Given the description of an element on the screen output the (x, y) to click on. 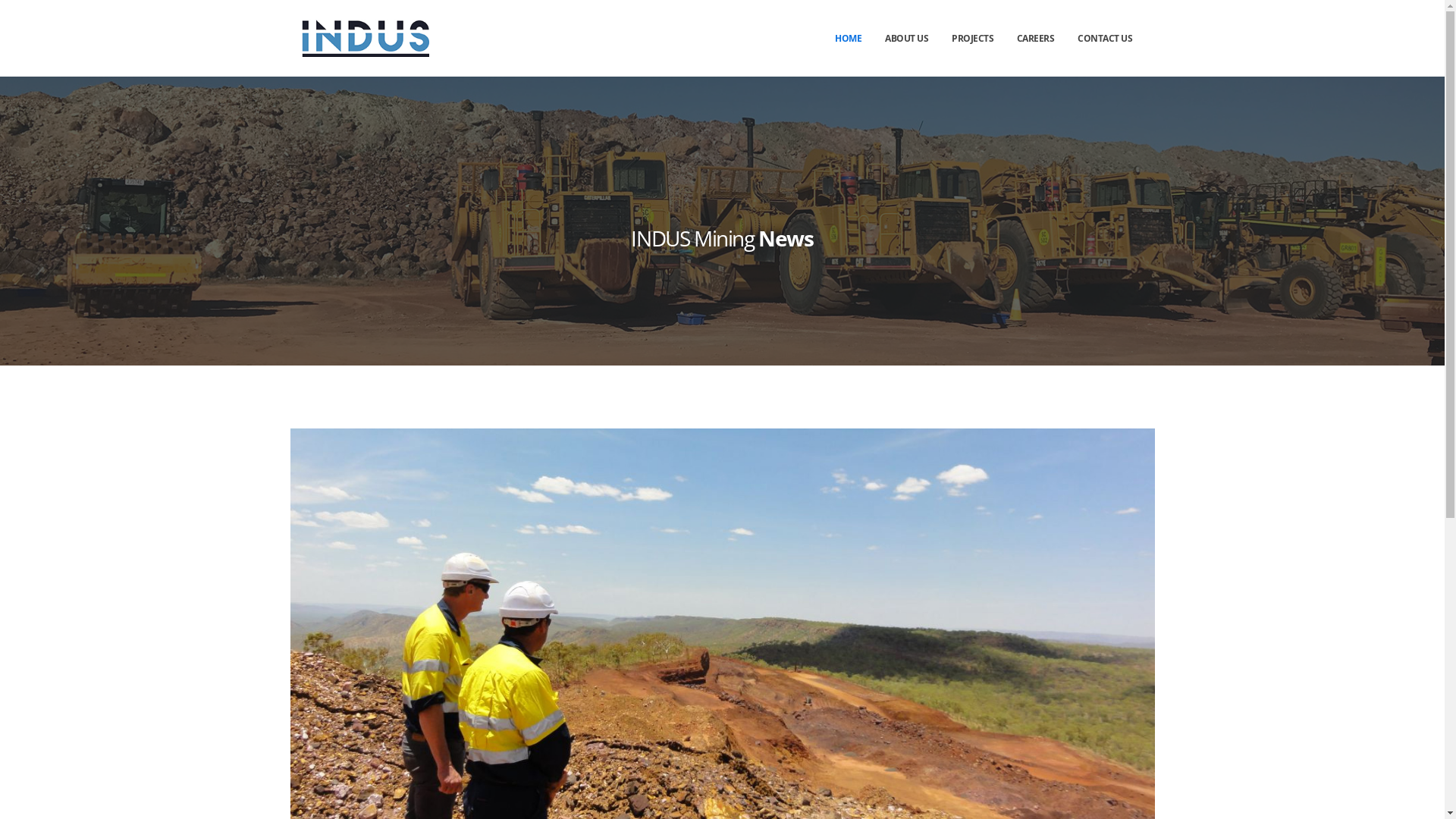
CAREERS Element type: text (1034, 38)
ABOUT US Element type: text (906, 38)
CONTACT US Element type: text (1104, 38)
HOME Element type: text (848, 38)
PROJECTS Element type: text (972, 38)
